Given the description of an element on the screen output the (x, y) to click on. 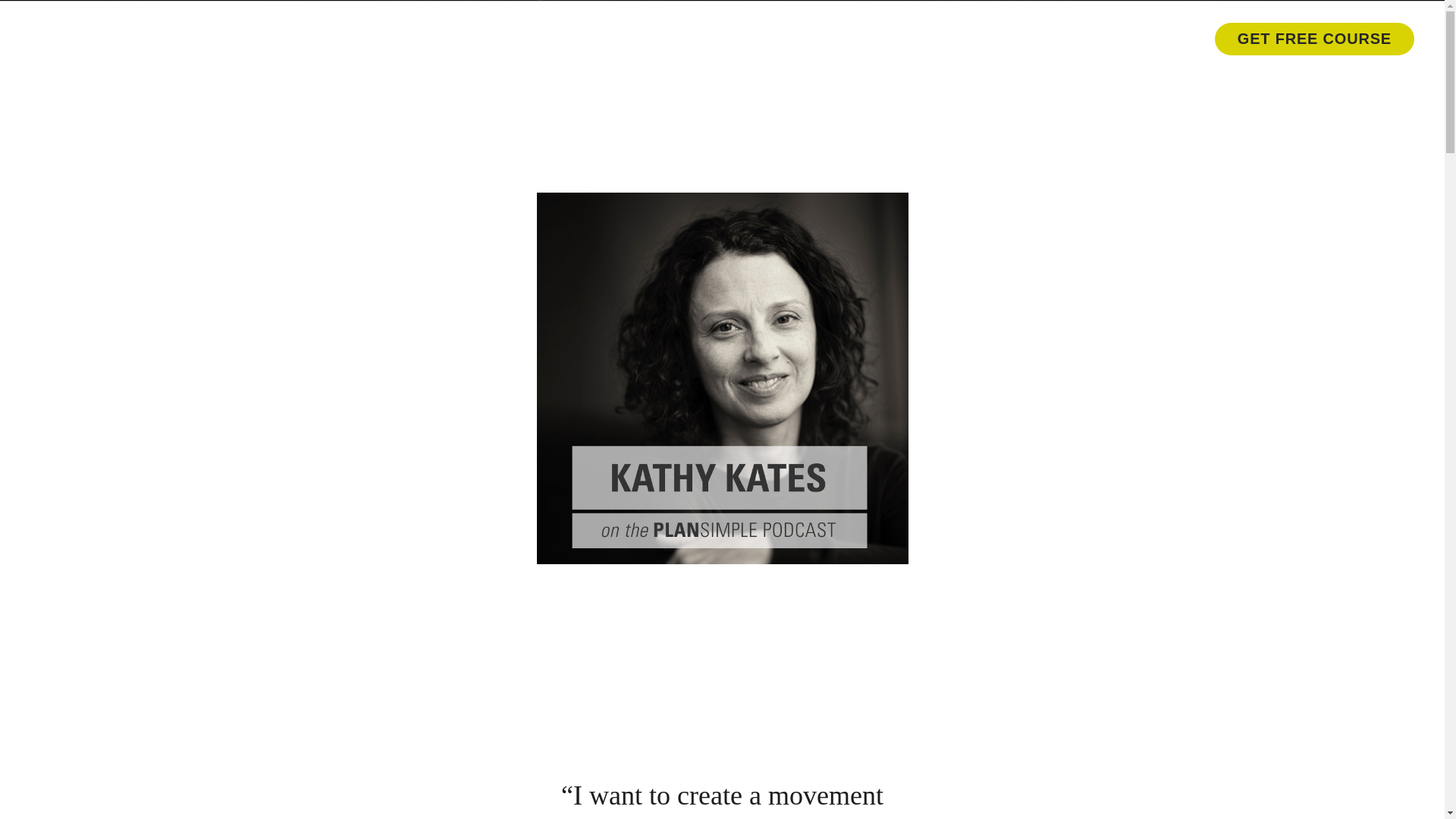
GET FREE COURSE (1313, 38)
PODCAST (479, 38)
ABOUT MIA (347, 38)
